Given the description of an element on the screen output the (x, y) to click on. 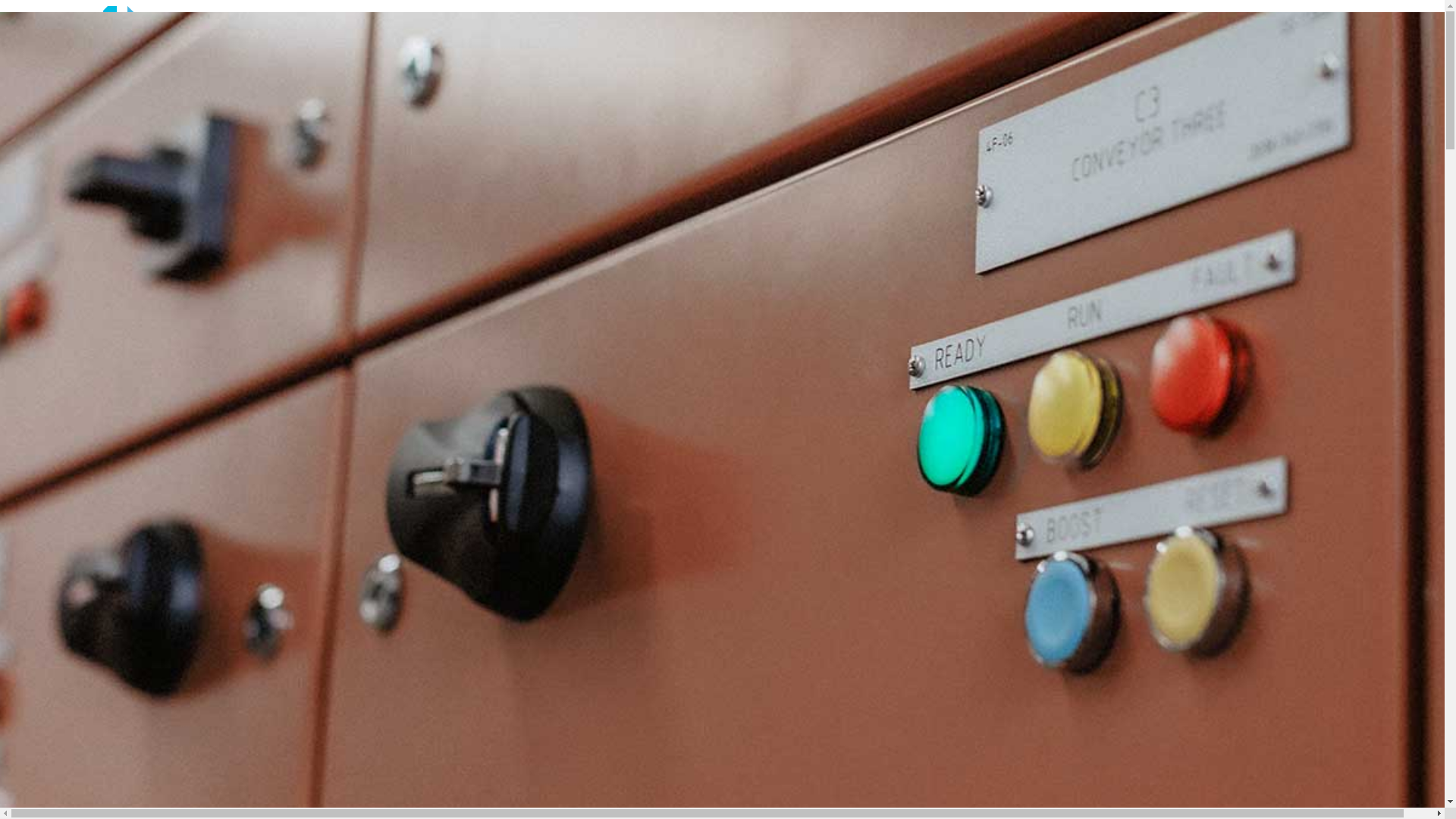
Communications and Industrial IT Element type: text (150, 181)
About Element type: text (51, 85)
Control Systems Element type: text (106, 153)
Functional Safety Element type: text (109, 208)
Skip to main content Element type: text (5, 5)
Switchroom and Panel Manufacturing Element type: text (158, 194)
Electrical Element type: text (89, 167)
News Element type: text (49, 276)
Our Services Element type: text (97, 140)
Contact Element type: text (55, 304)
Projects Element type: text (55, 263)
Capability Statement Element type: text (117, 112)
Industries Element type: text (60, 249)
Services Element type: text (56, 126)
Project Delivery Element type: text (76, 235)
About Us Element type: text (89, 99)
Process Optimisation Element type: text (117, 222)
Careers Element type: text (54, 290)
